Given the description of an element on the screen output the (x, y) to click on. 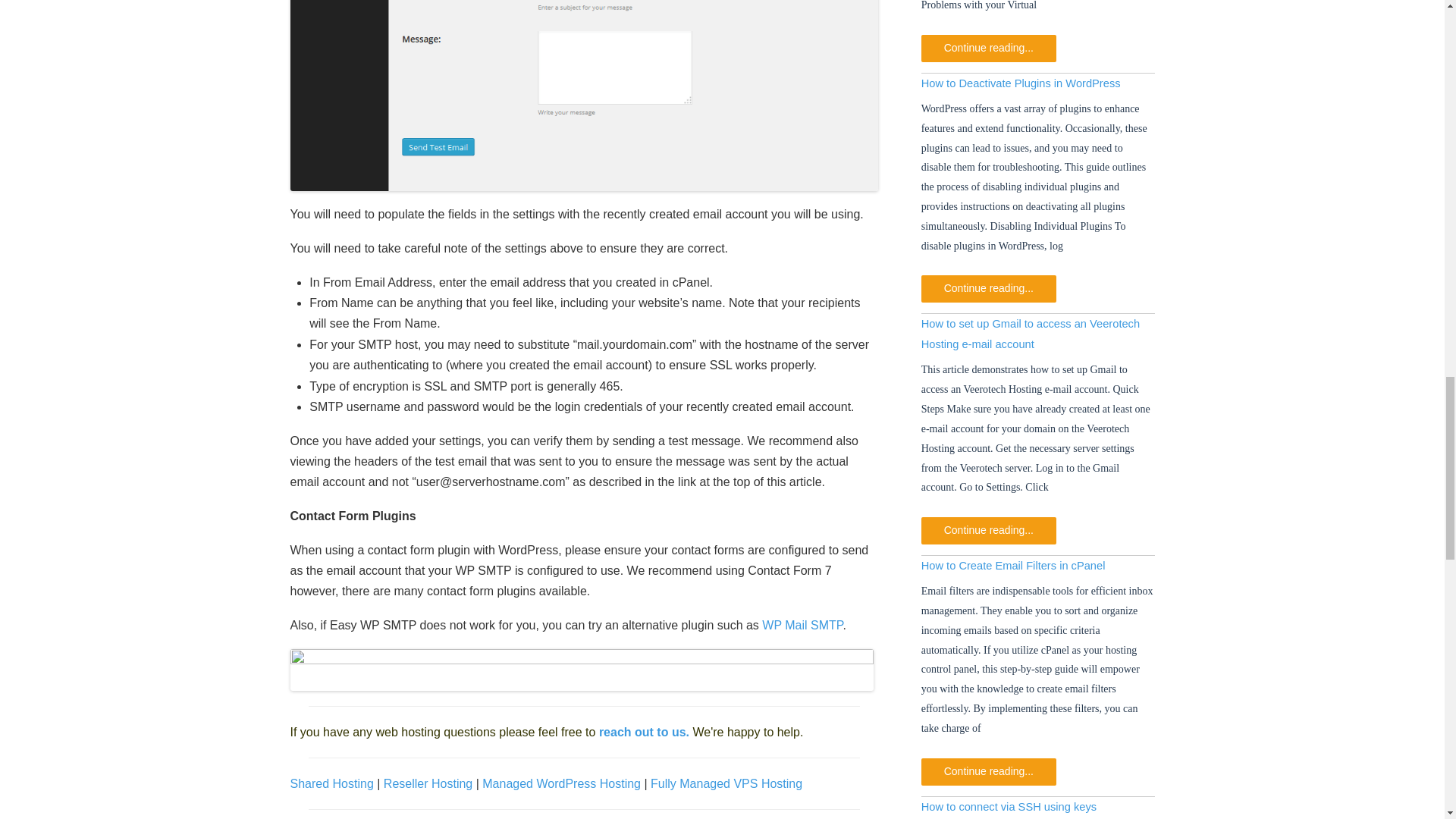
Reseller Hosting (427, 783)
WP Mail SMTP (802, 625)
Managed WordPress Hosting (560, 783)
Fully Managed VPS Hosting (726, 783)
reach out to us. (643, 731)
Shared Hosting (330, 783)
